Given the description of an element on the screen output the (x, y) to click on. 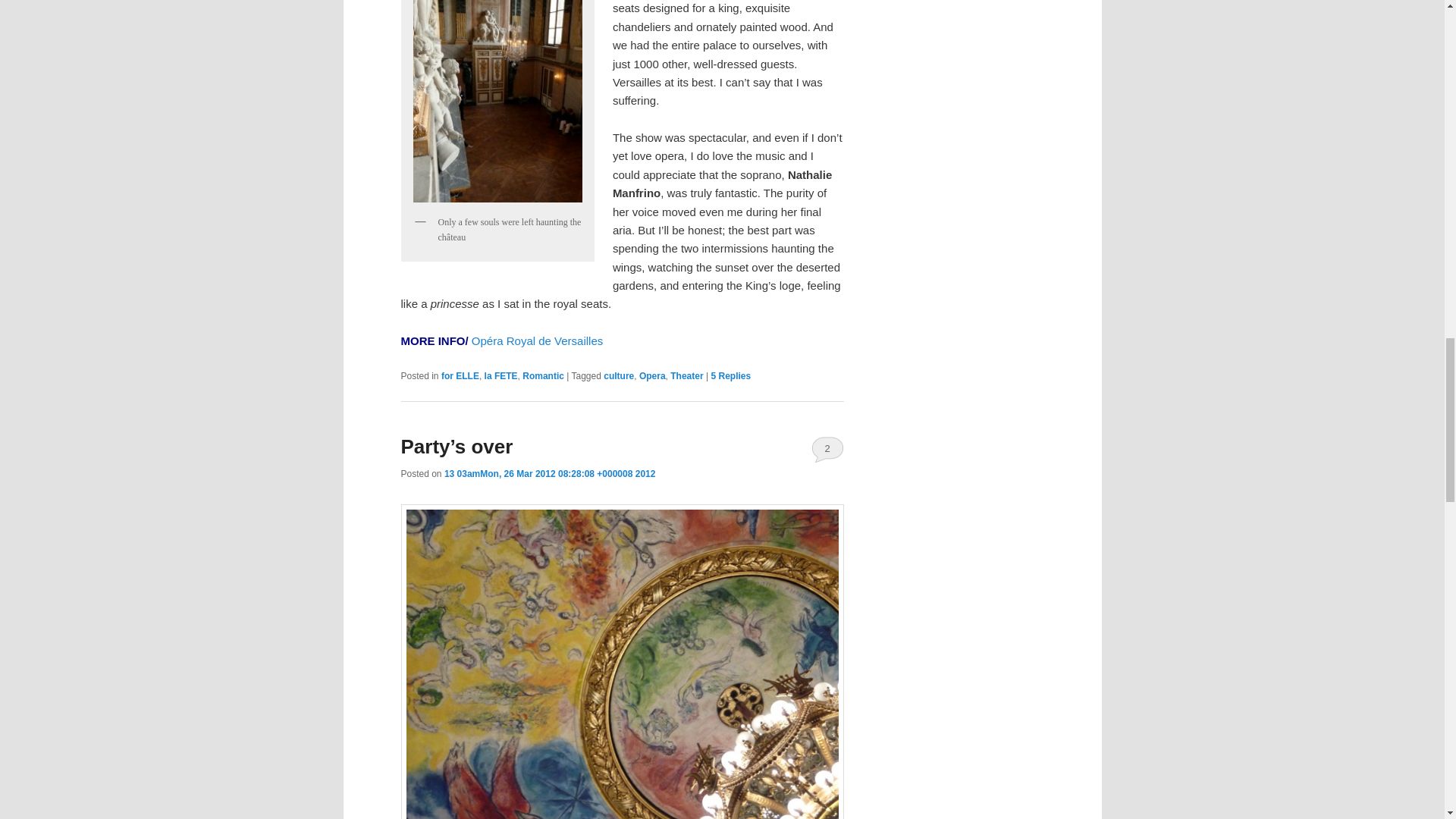
la FETE (501, 376)
for ELLE (460, 376)
Theater (686, 376)
2 (827, 448)
8:28 am (550, 473)
Opera (652, 376)
Romantic (543, 376)
5 Replies (730, 376)
culture (618, 376)
